Given the description of an element on the screen output the (x, y) to click on. 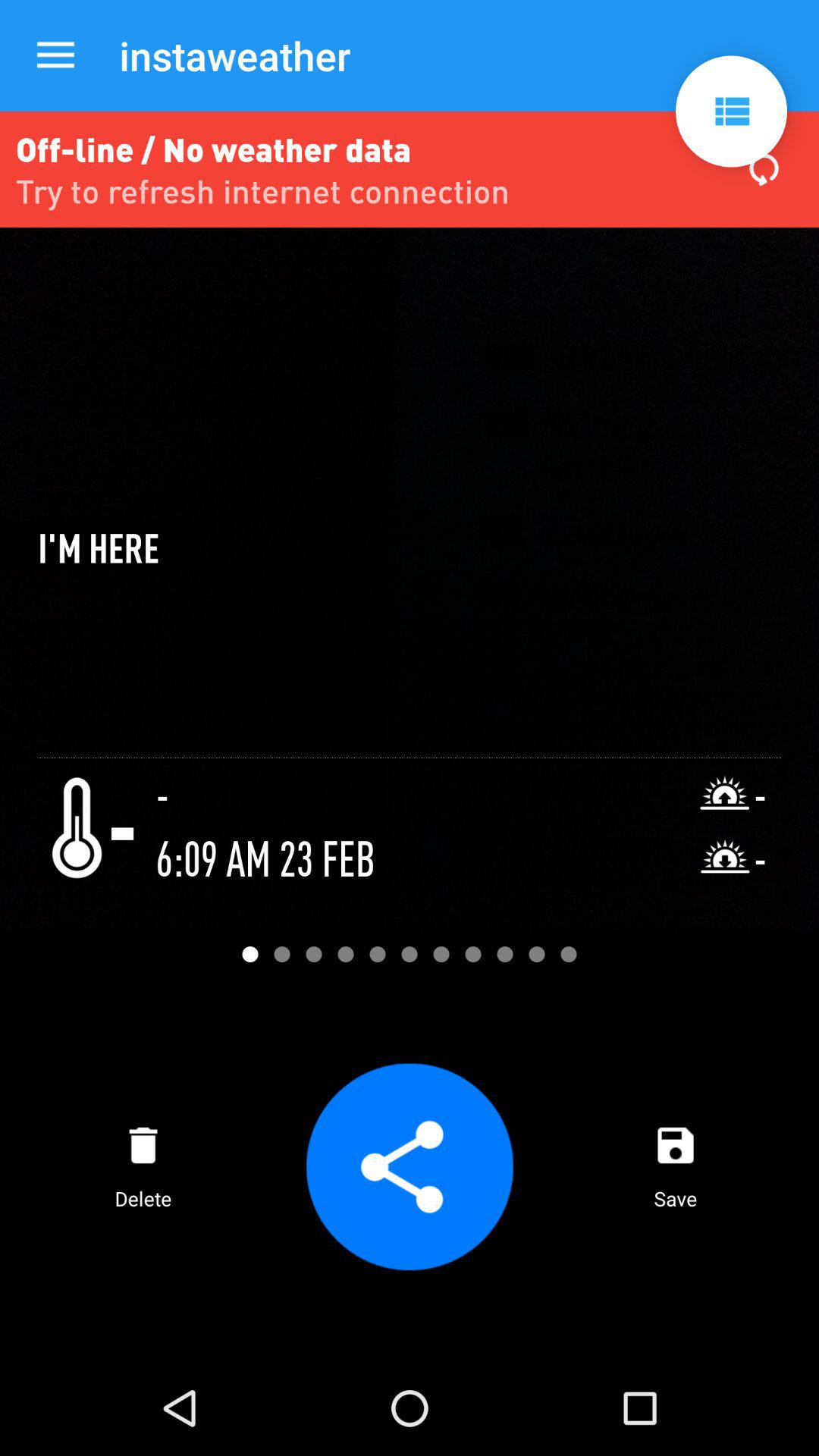
settings (731, 111)
